Given the description of an element on the screen output the (x, y) to click on. 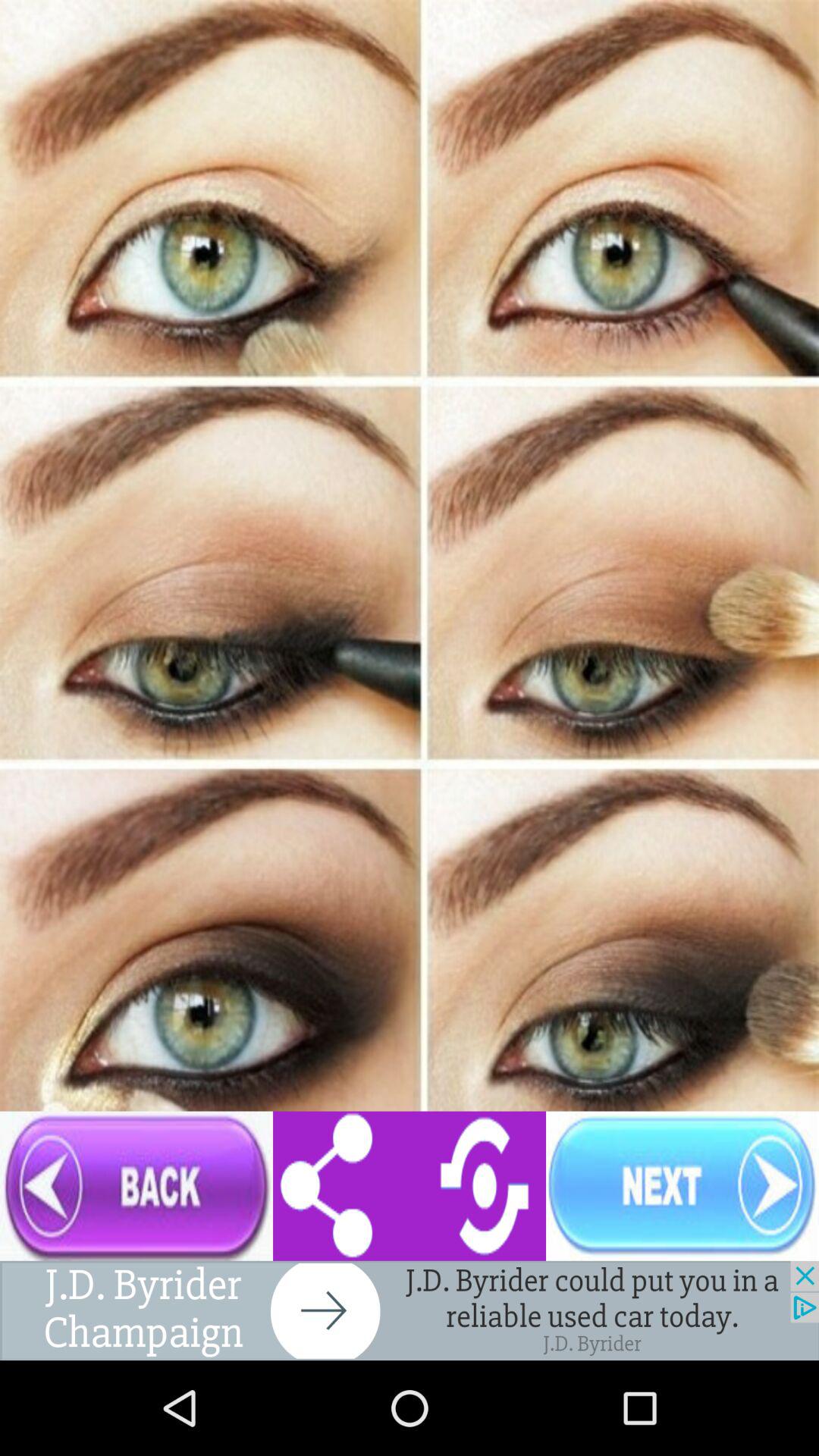
go to next (682, 1185)
